Given the description of an element on the screen output the (x, y) to click on. 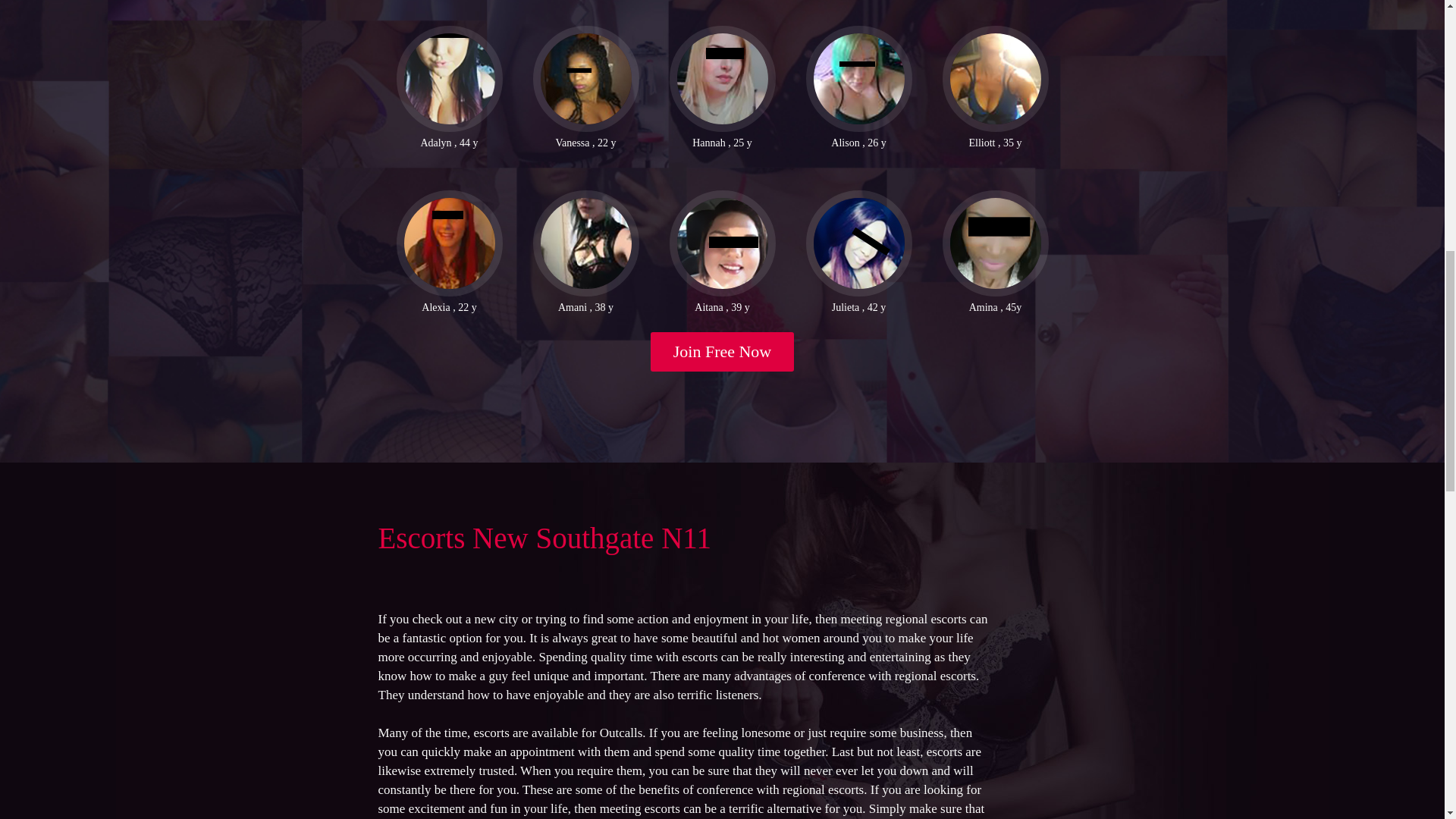
Escorts New Southgate N11 (543, 537)
Join Free Now (722, 351)
Join (722, 351)
